Given the description of an element on the screen output the (x, y) to click on. 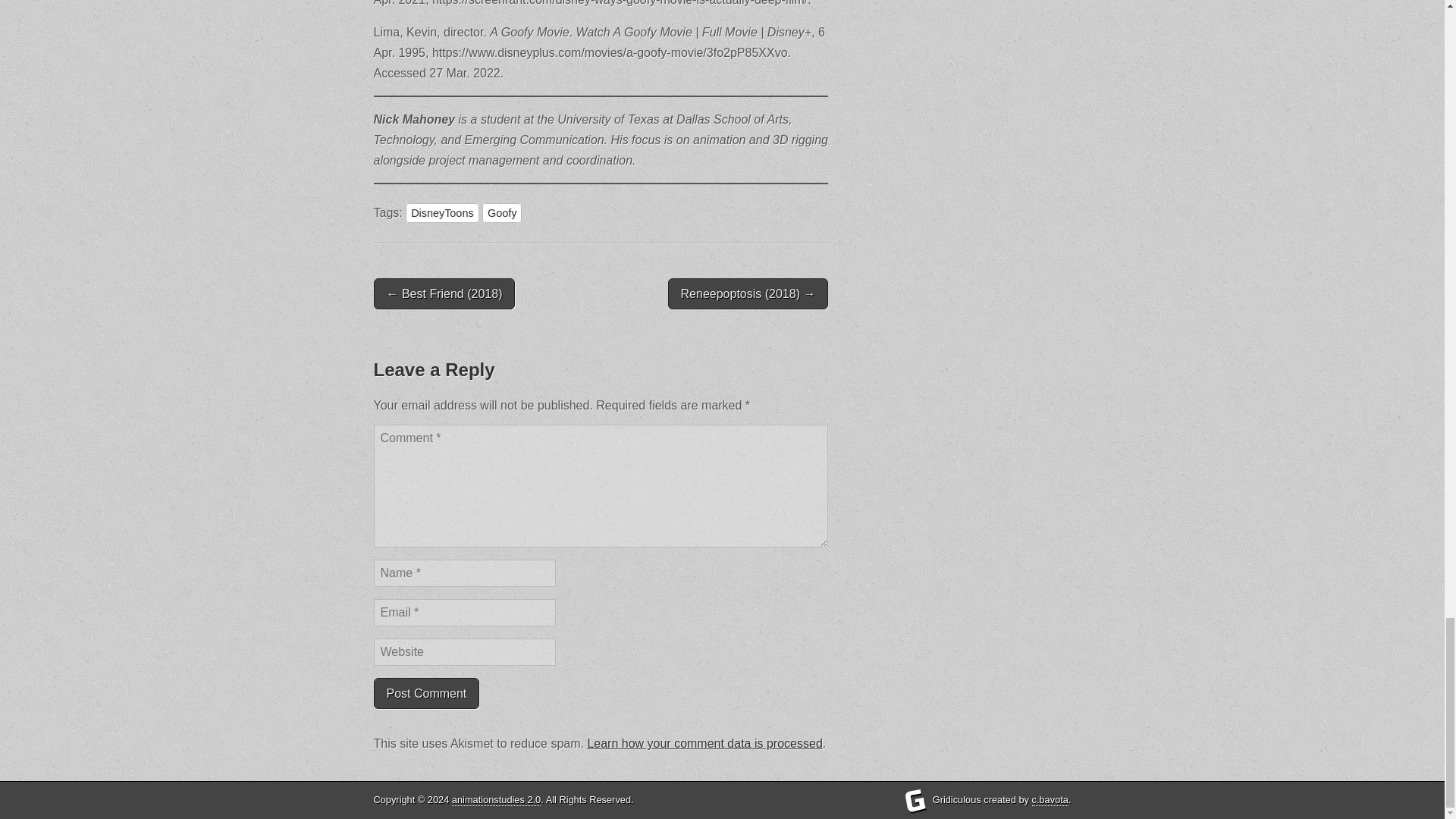
Post Comment (425, 693)
DisneyToons (442, 212)
Post Comment (425, 693)
Goofy (501, 212)
Learn how your comment data is processed (704, 743)
